Given the description of an element on the screen output the (x, y) to click on. 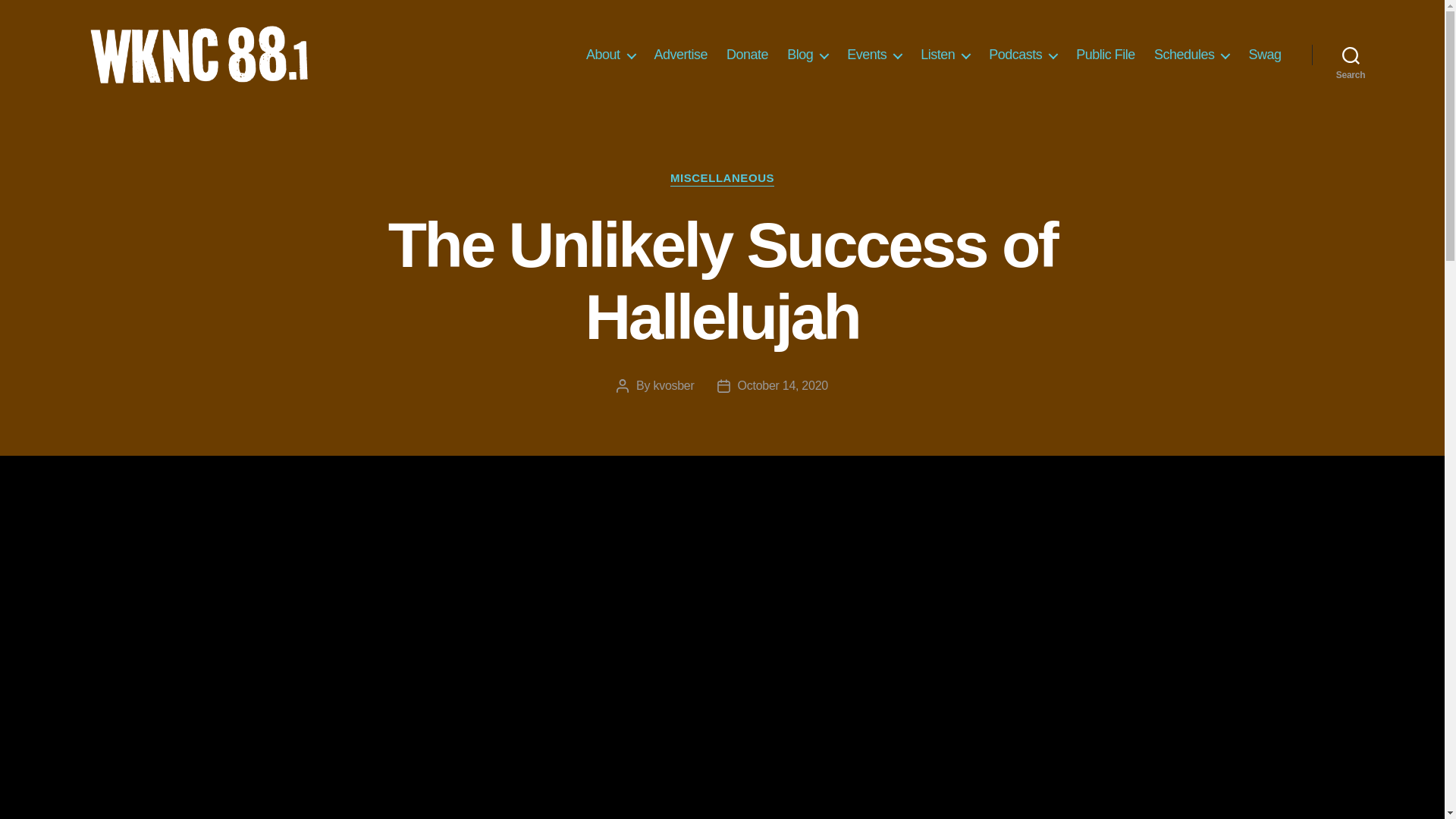
Blog (807, 54)
Events (874, 54)
Listen (944, 54)
Advertise (680, 54)
Donate (747, 54)
About (610, 54)
